Given the description of an element on the screen output the (x, y) to click on. 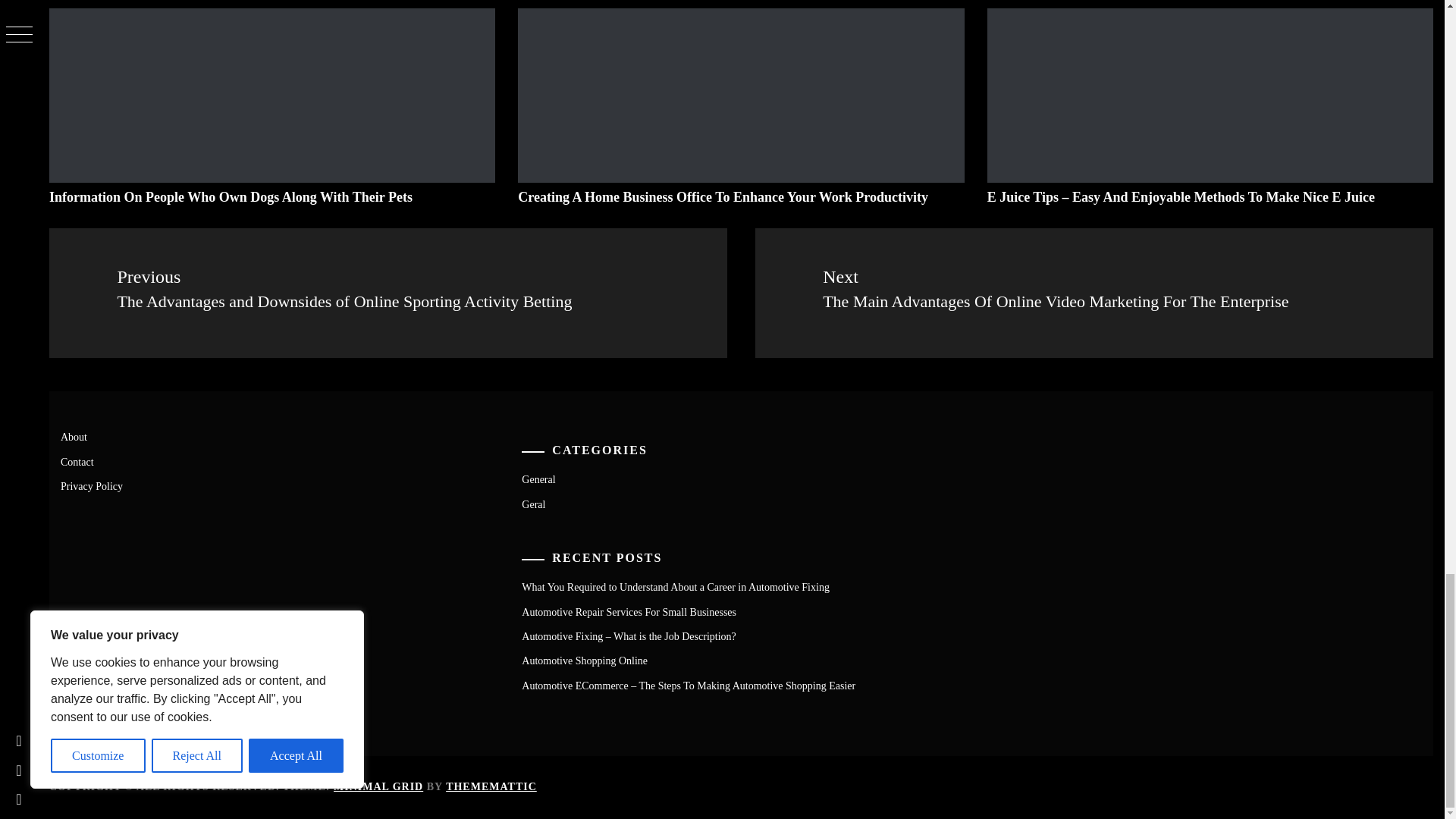
Information On People Who Own Dogs Along With Their Pets (230, 196)
